Given the description of an element on the screen output the (x, y) to click on. 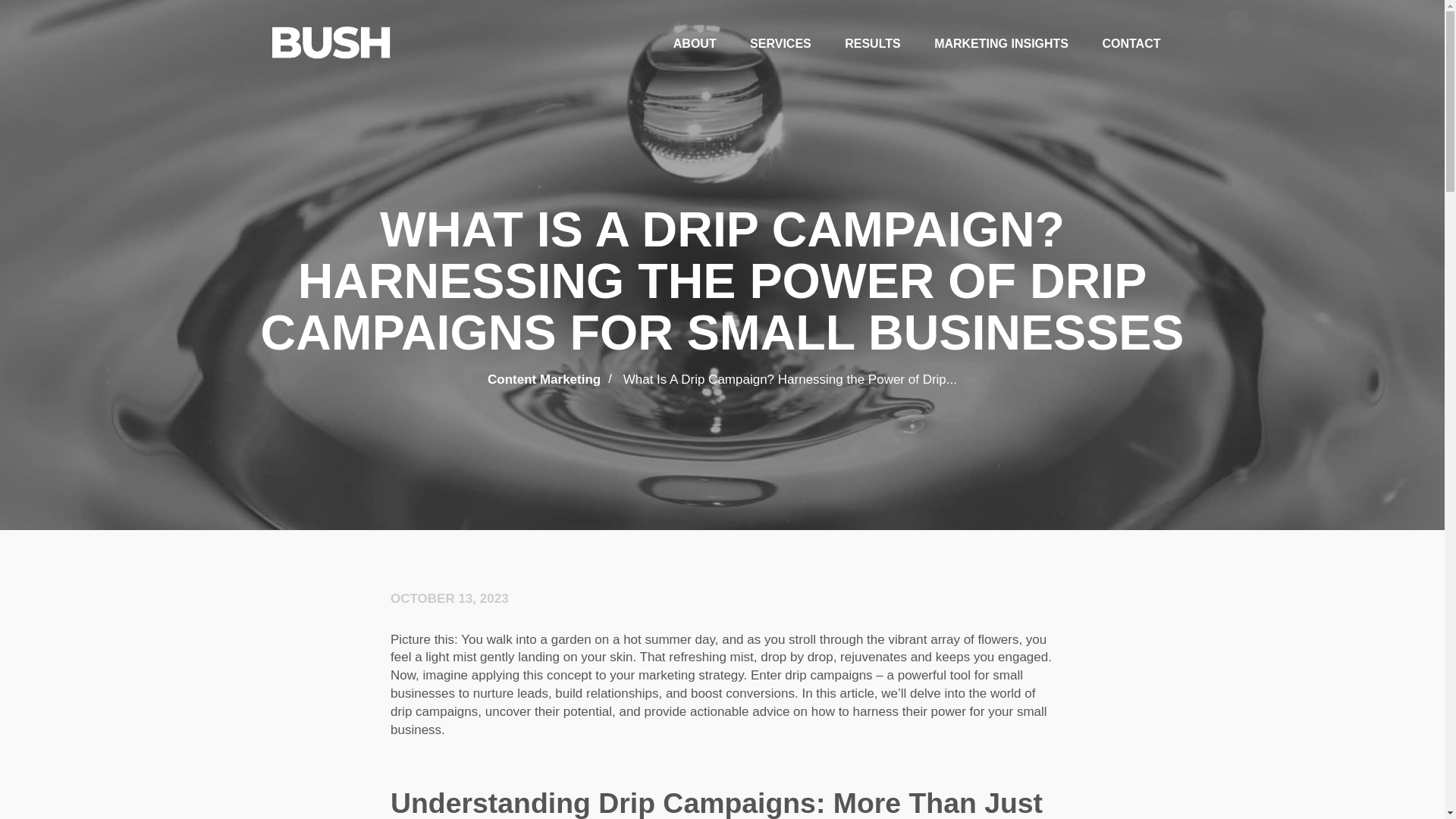
ABOUT (695, 43)
SERVICES (780, 43)
RESULTS (871, 43)
Content Marketing (543, 379)
MARKETING INSIGHTS (1001, 43)
CONTACT (1131, 43)
